Given the description of an element on the screen output the (x, y) to click on. 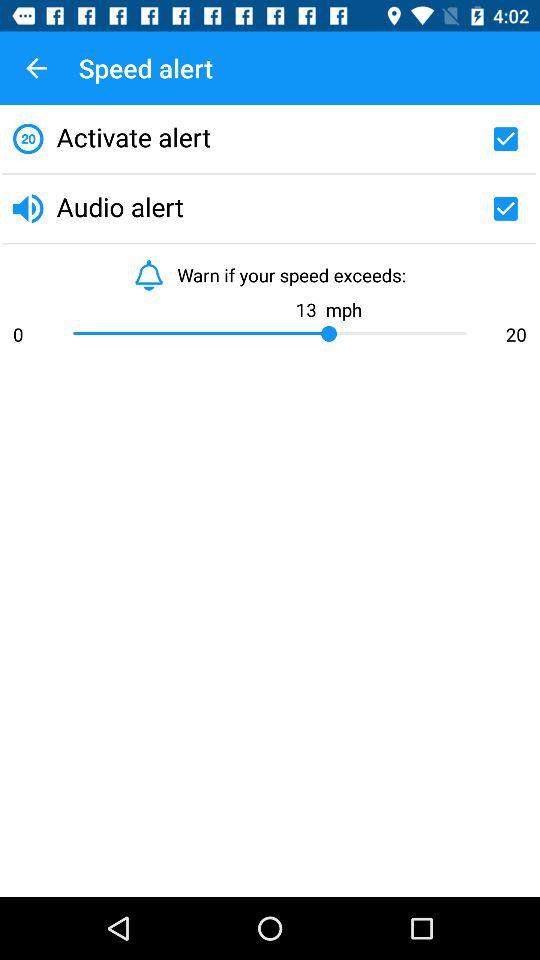
toggle for alerts (505, 139)
